Given the description of an element on the screen output the (x, y) to click on. 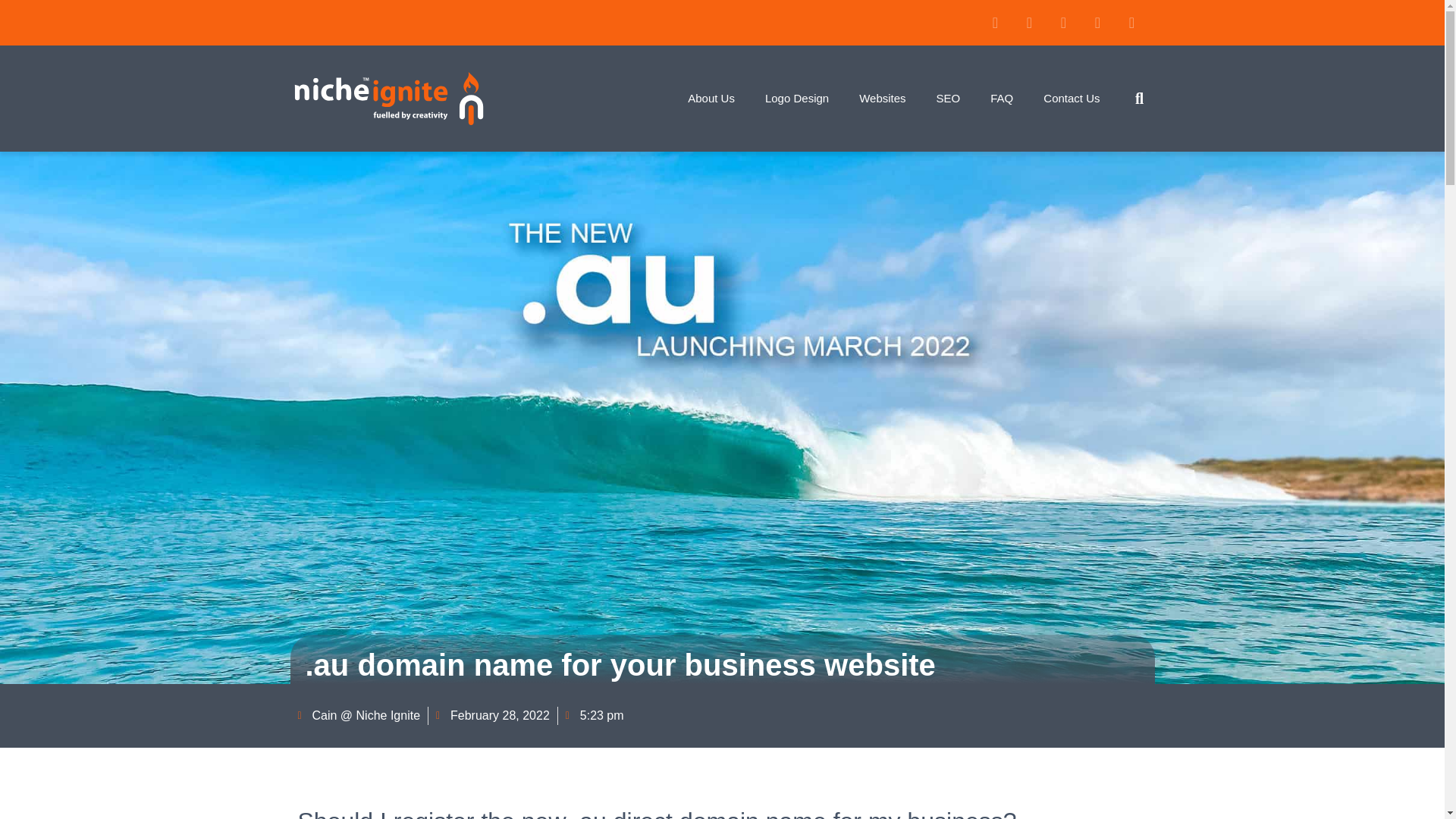
SEO (948, 97)
Contact Us (1071, 97)
Websites (882, 97)
Logo Design (796, 97)
February 28, 2022 (492, 715)
About Us (710, 97)
